Given the description of an element on the screen output the (x, y) to click on. 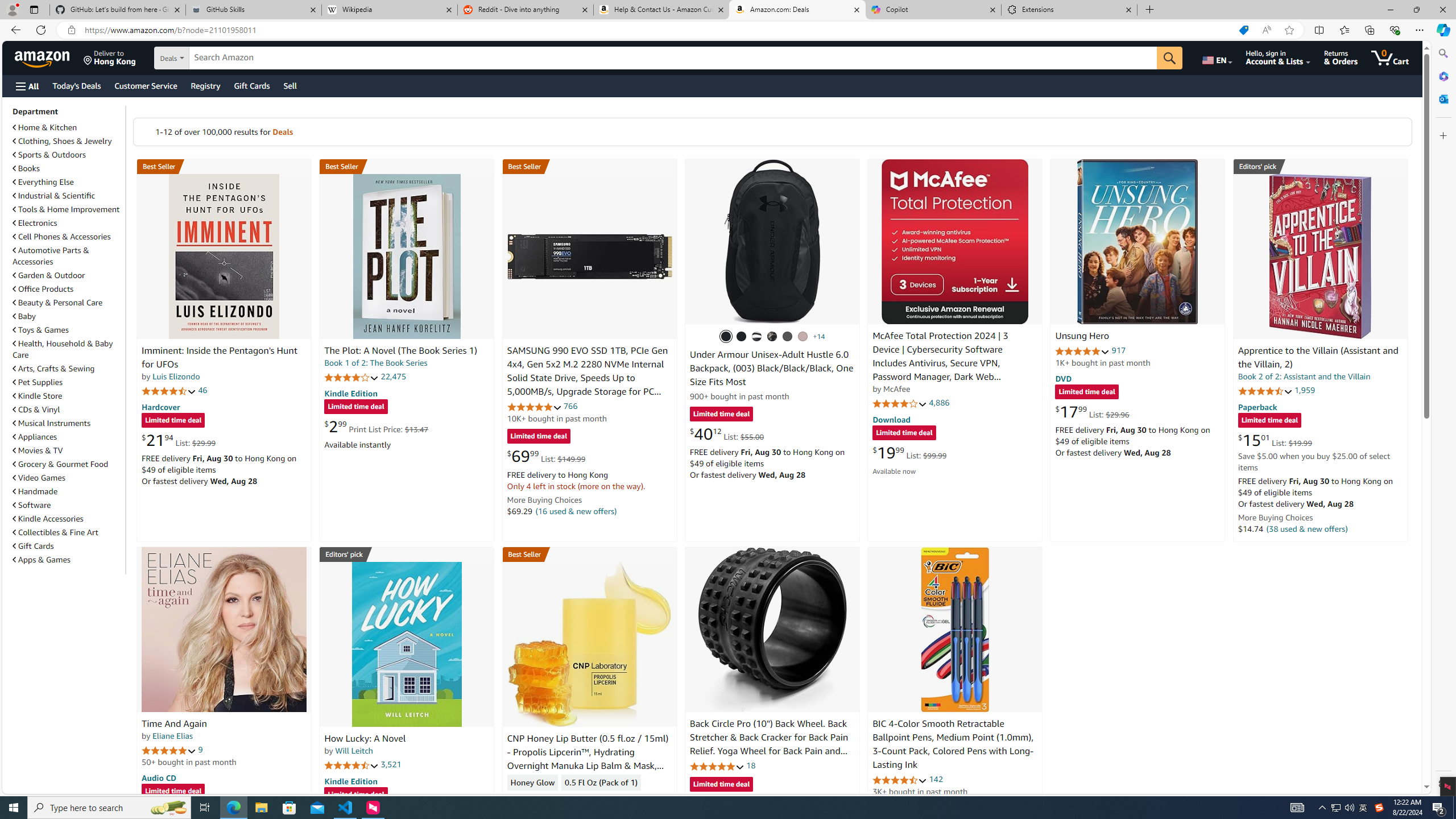
Best Seller in Heist Thrillers (406, 165)
Search (1442, 53)
Collectibles & Fine Art (67, 532)
Settings and more (Alt+F) (1419, 29)
Help & Contact Us - Amazon Customer Service (660, 9)
Kindle Accessories (67, 518)
Time And Again (224, 628)
Musical Instruments (67, 423)
Apps & Games (41, 559)
Baby (24, 316)
Amazon (43, 57)
Collections (1369, 29)
Extensions (1068, 9)
Toys & Games (40, 329)
